Given the description of an element on the screen output the (x, y) to click on. 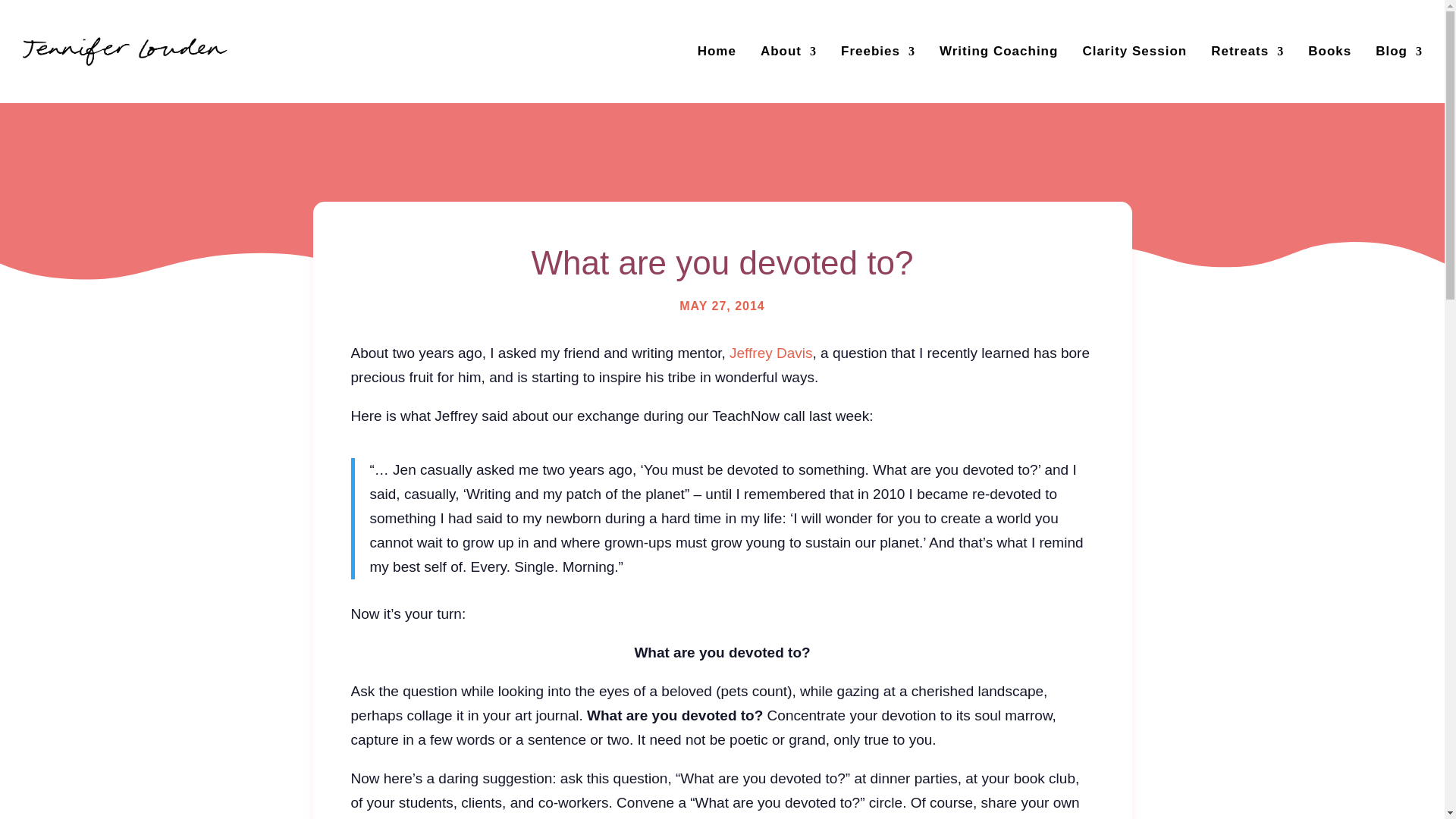
Retreats (1247, 51)
Freebies (878, 51)
Writing Coaching (998, 51)
About (788, 51)
Jeffrey Davis (770, 352)
Clarity Session (1133, 51)
